Given the description of an element on the screen output the (x, y) to click on. 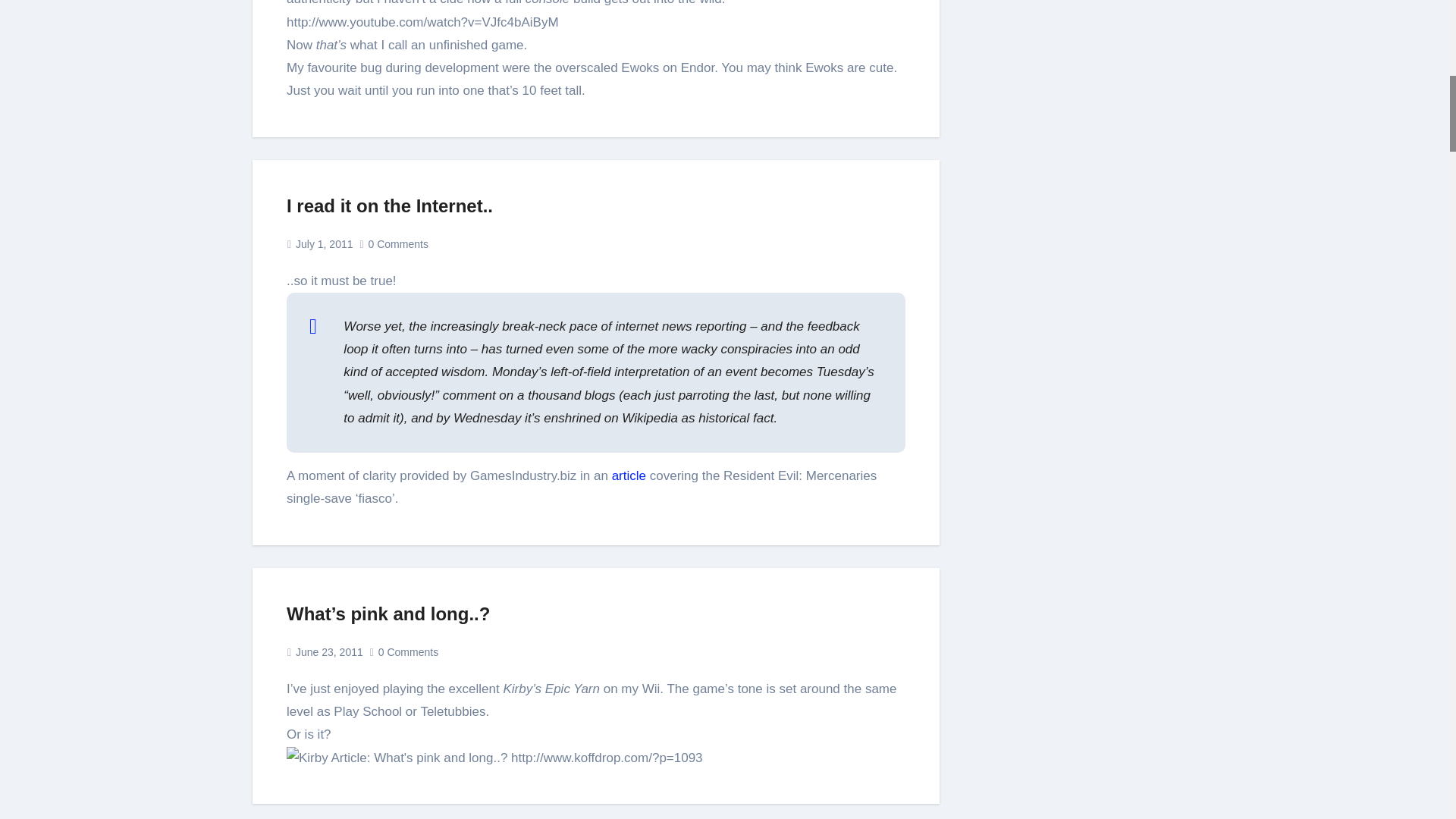
0 Comments (408, 652)
article (628, 475)
0 Comments (398, 244)
July 1, 2011 (324, 244)
I read it on the Internet.. (389, 205)
June 23, 2011 (328, 652)
